Given the description of an element on the screen output the (x, y) to click on. 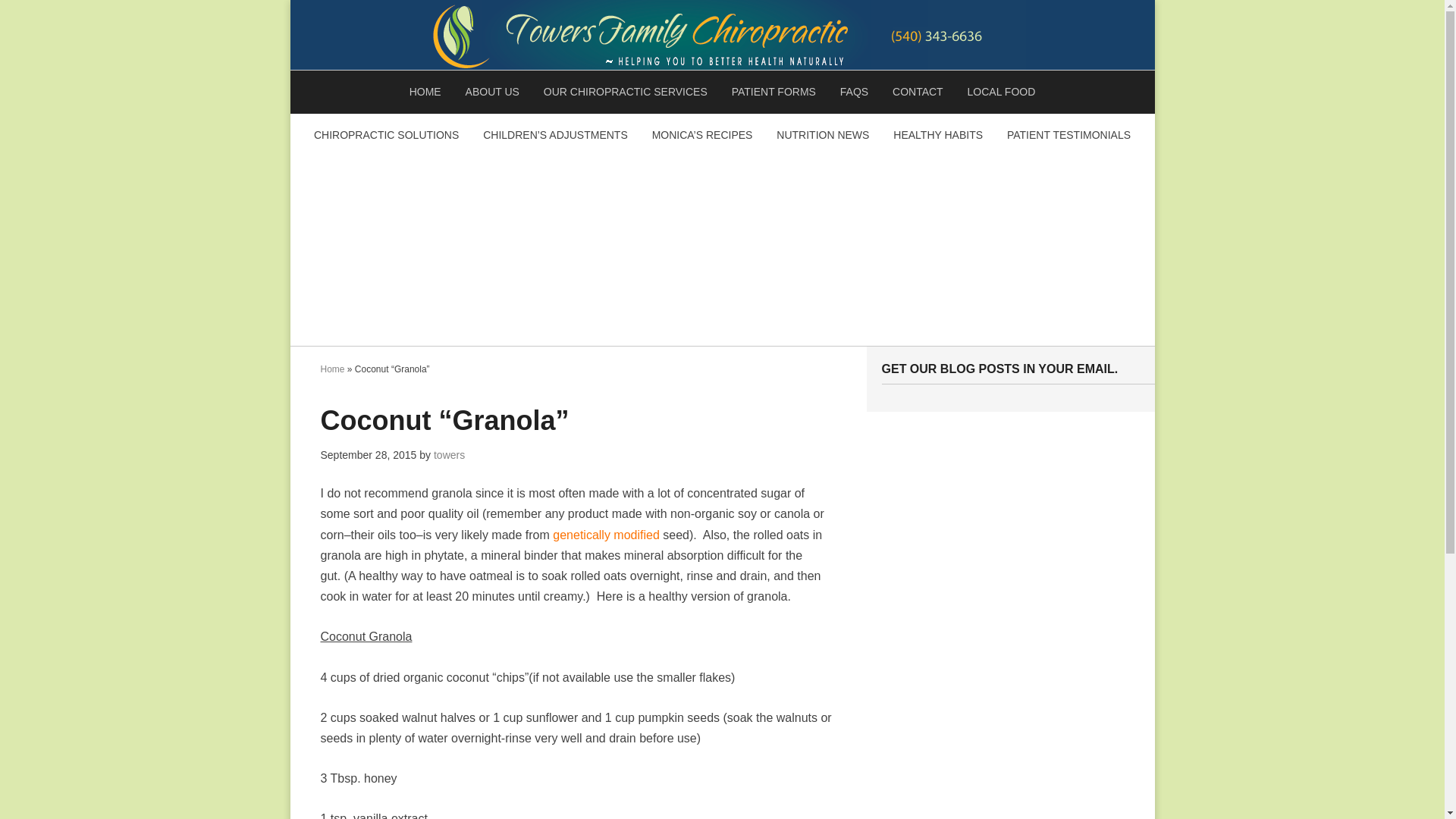
towers (448, 454)
HOME (424, 91)
CONTACT (917, 91)
CHIROPRACTIC SOLUTIONS (385, 135)
ABOUT US (491, 91)
PATIENT FORMS (773, 91)
PATIENT TESTIMONIALS (1068, 135)
genetically modified (606, 534)
FAQS (854, 91)
TOWERS FAMILY CHIROPRACTOR (721, 34)
